Given the description of an element on the screen output the (x, y) to click on. 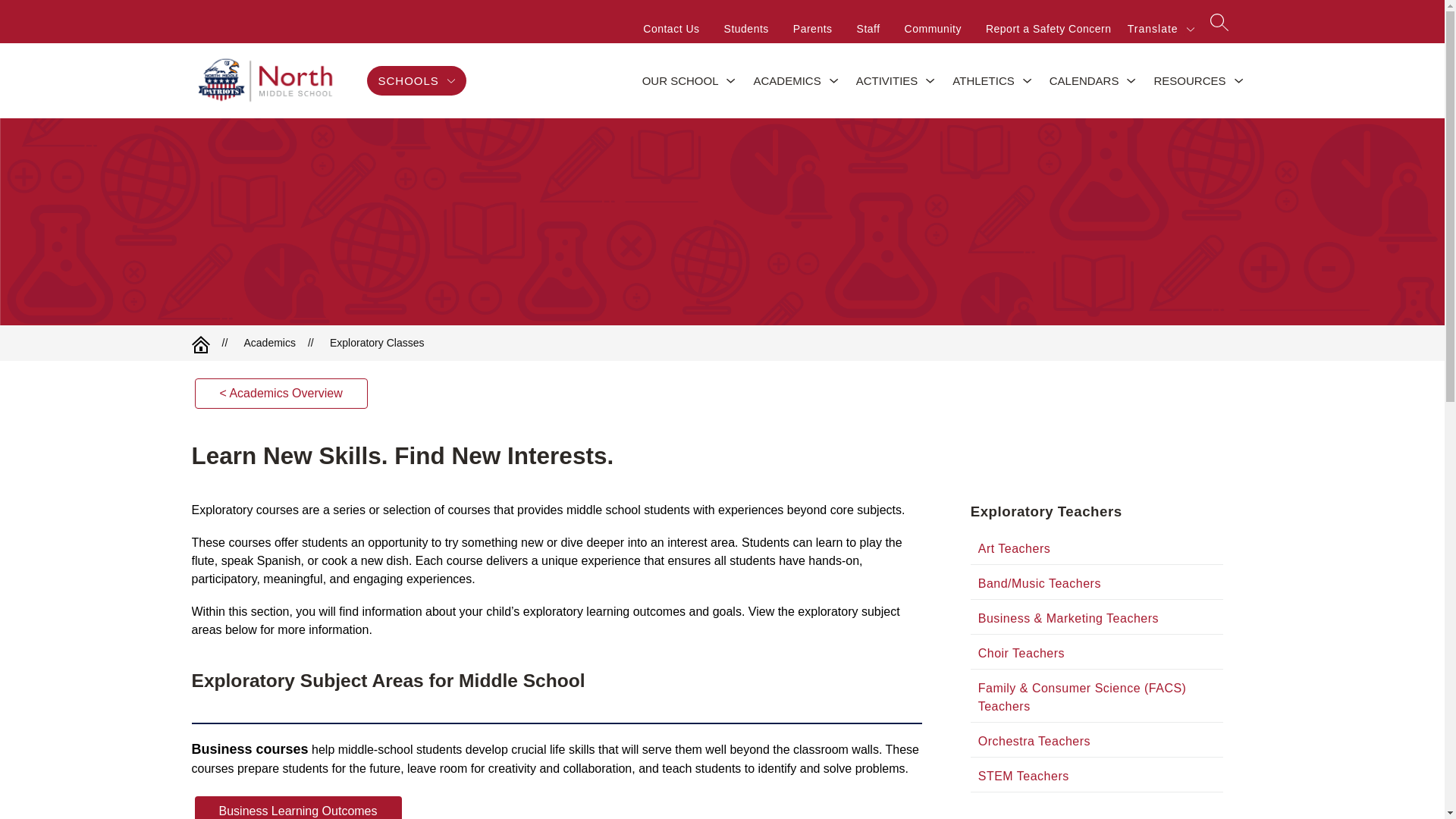
SCHOOLS (416, 80)
Report a Safety Concern (1048, 28)
ACADEMICS (786, 81)
OUR SCHOOL (680, 80)
Staff (868, 28)
Show submenu for Academics (834, 81)
Parents (812, 28)
Students (745, 28)
Show submenu for Our School (730, 81)
Translate (1161, 28)
OUR SCHOOL (680, 81)
Contact Us (670, 28)
ACADEMICS (786, 80)
Community (932, 28)
SEARCH (1218, 27)
